Given the description of an element on the screen output the (x, y) to click on. 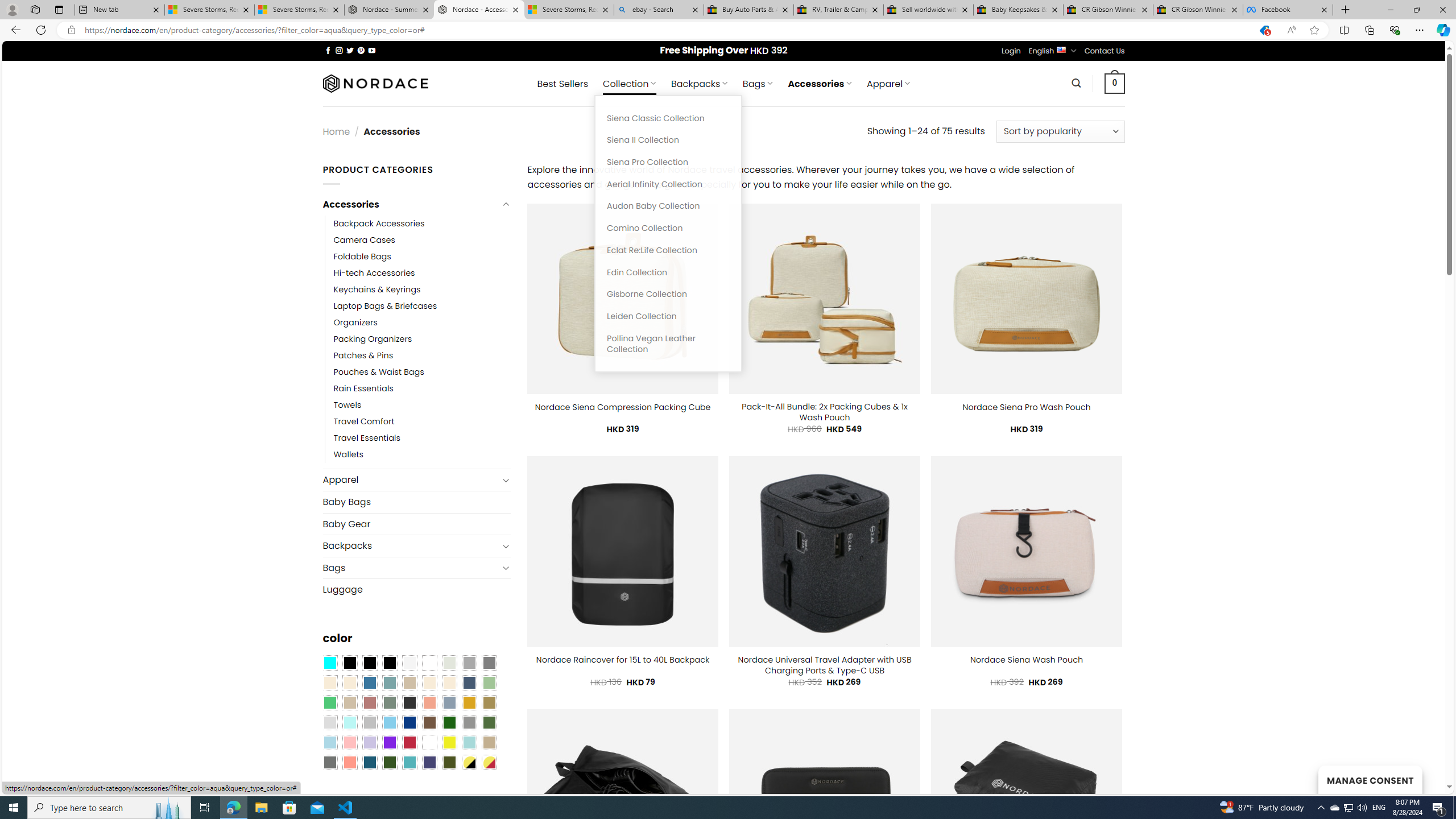
Rain Essentials (422, 388)
Shop order (1060, 131)
Towels (347, 405)
Nordace Siena Pro Wash Pouch (1026, 406)
Camera Cases (422, 239)
Green (488, 721)
Pollina Vegan Leather Collection (668, 343)
